Given the description of an element on the screen output the (x, y) to click on. 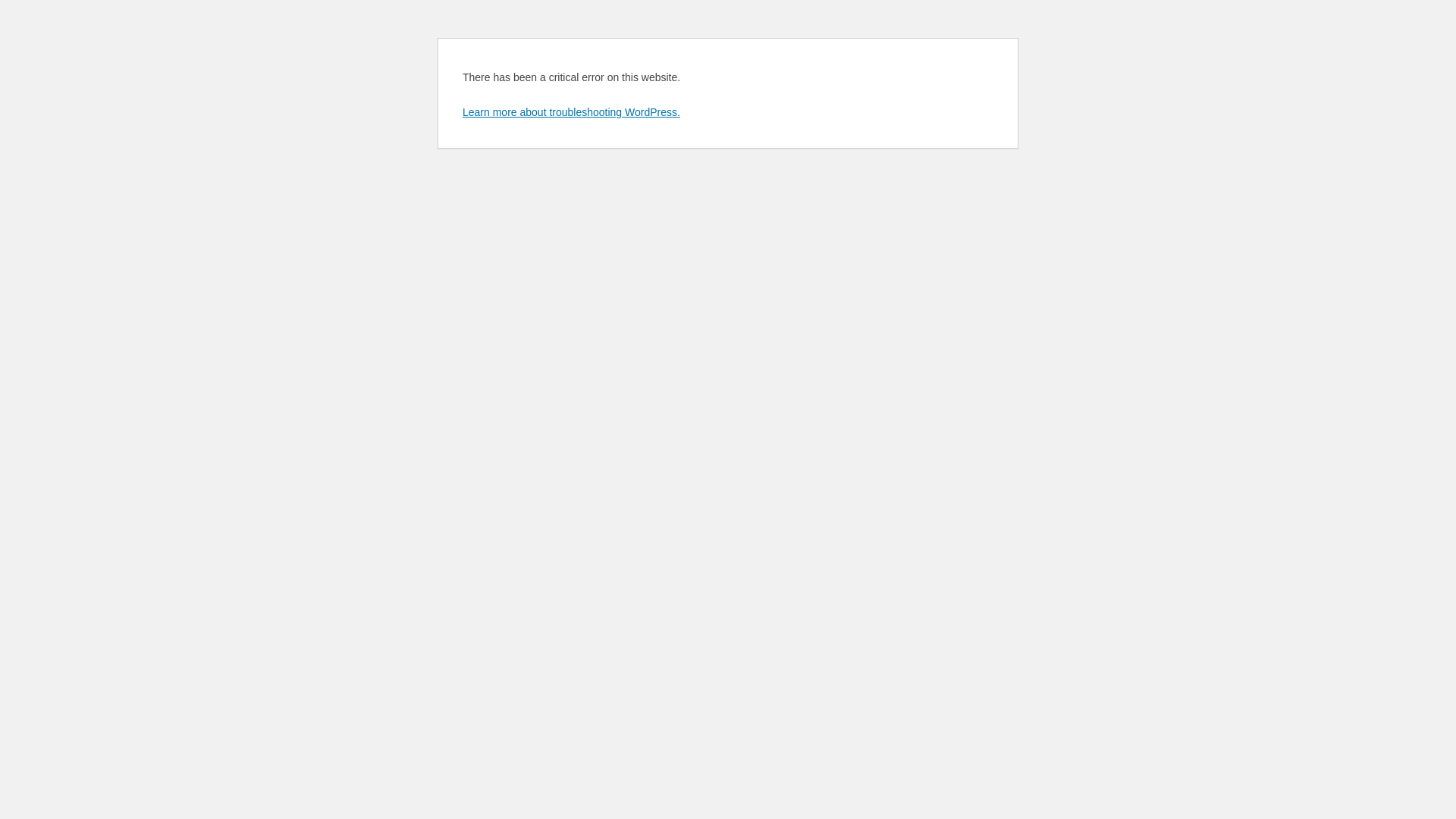
Learn more about troubleshooting WordPress. Element type: text (571, 112)
